Given the description of an element on the screen output the (x, y) to click on. 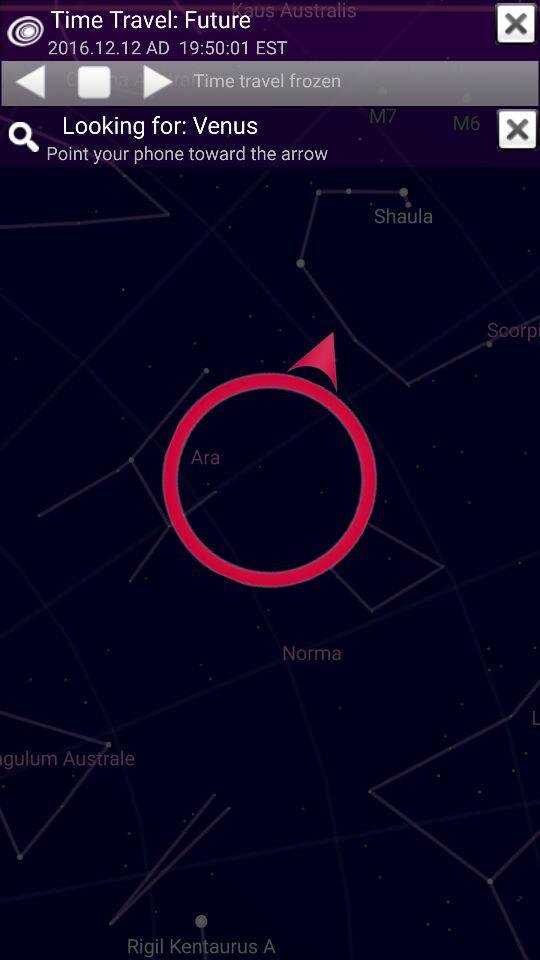
press the pause (94, 83)
